Given the description of an element on the screen output the (x, y) to click on. 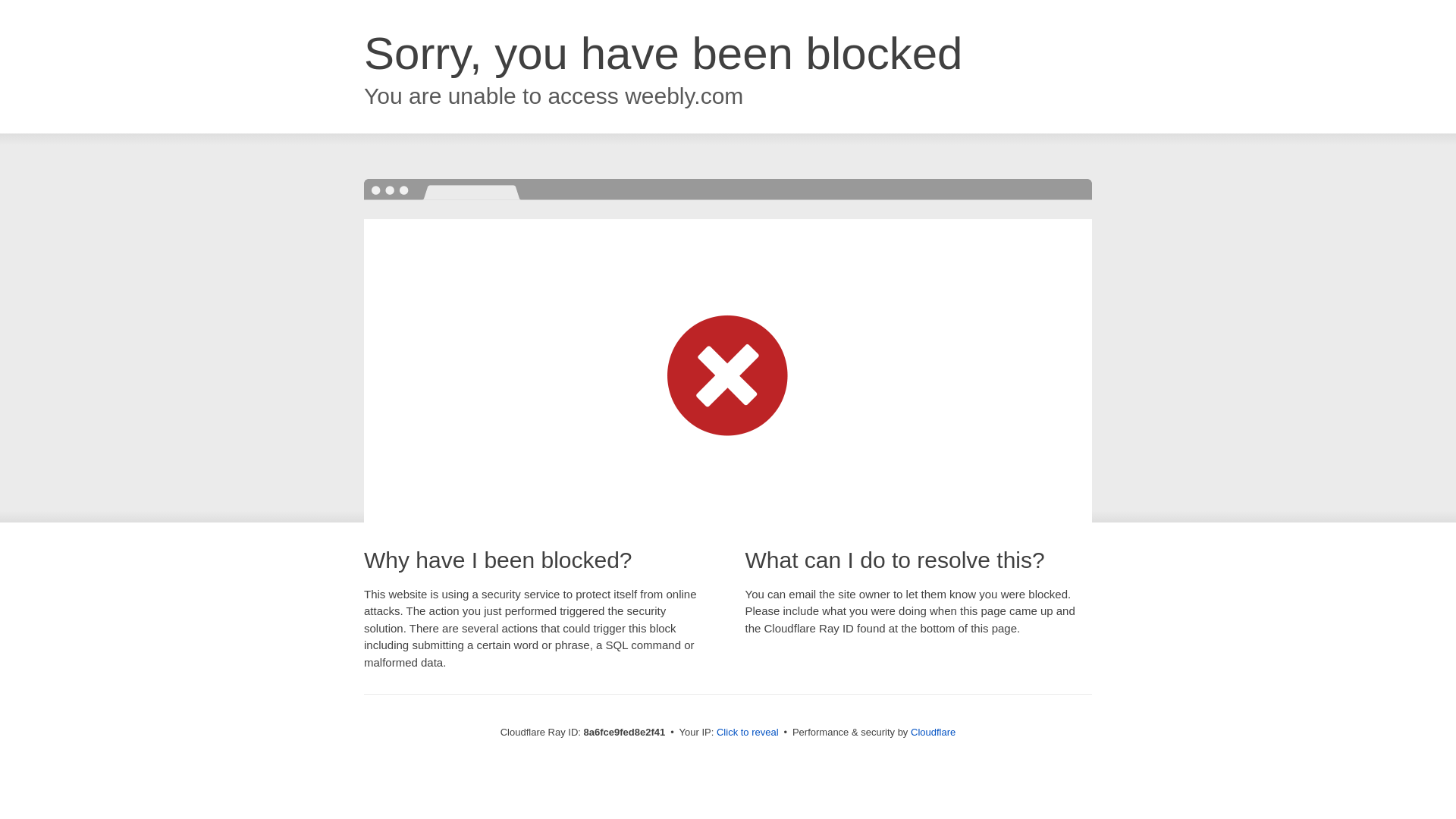
Cloudflare (933, 731)
Click to reveal (747, 732)
